Given the description of an element on the screen output the (x, y) to click on. 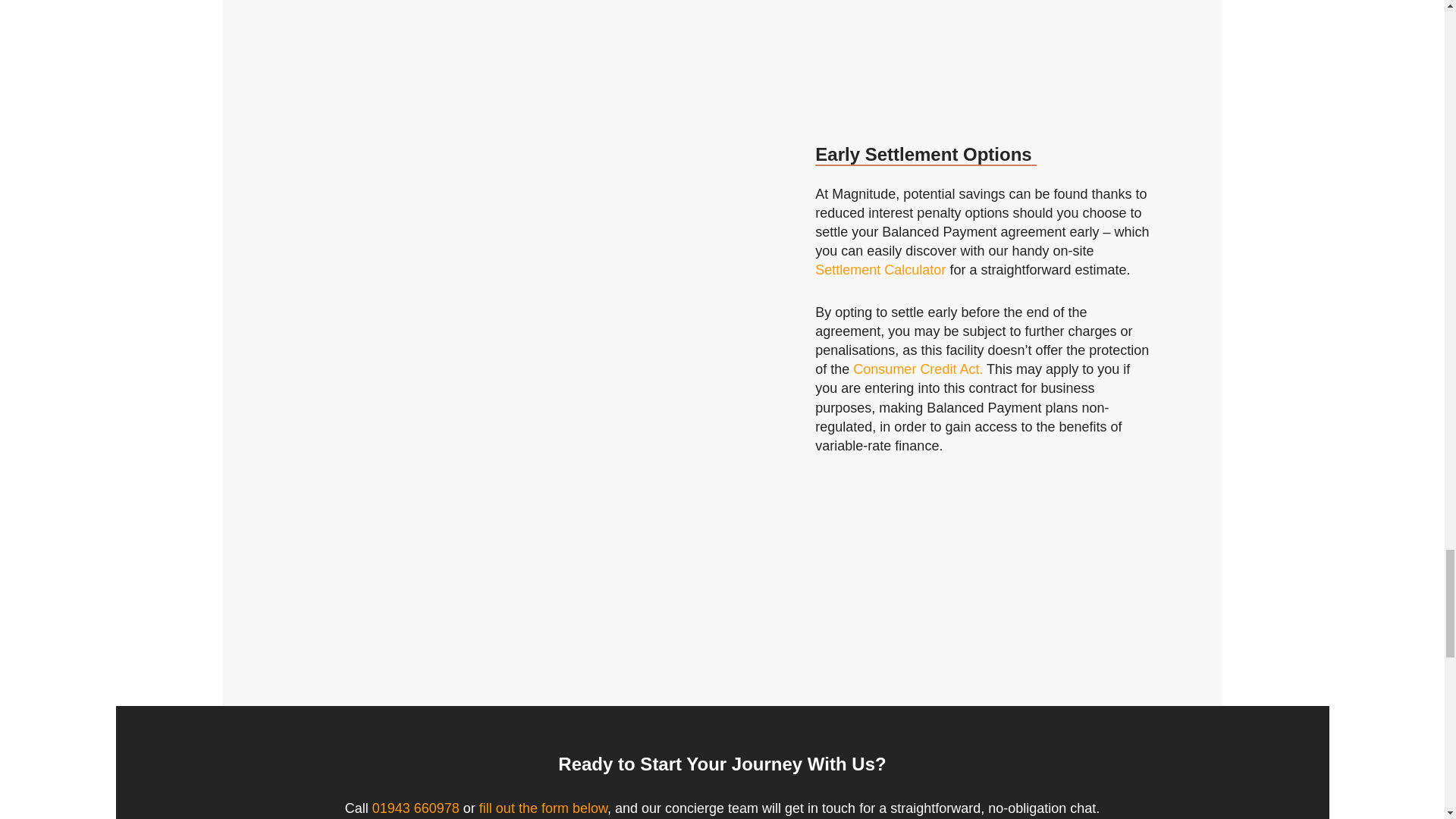
Settlement Calculator (879, 269)
Consumer Credit Act. (917, 368)
